Given the description of an element on the screen output the (x, y) to click on. 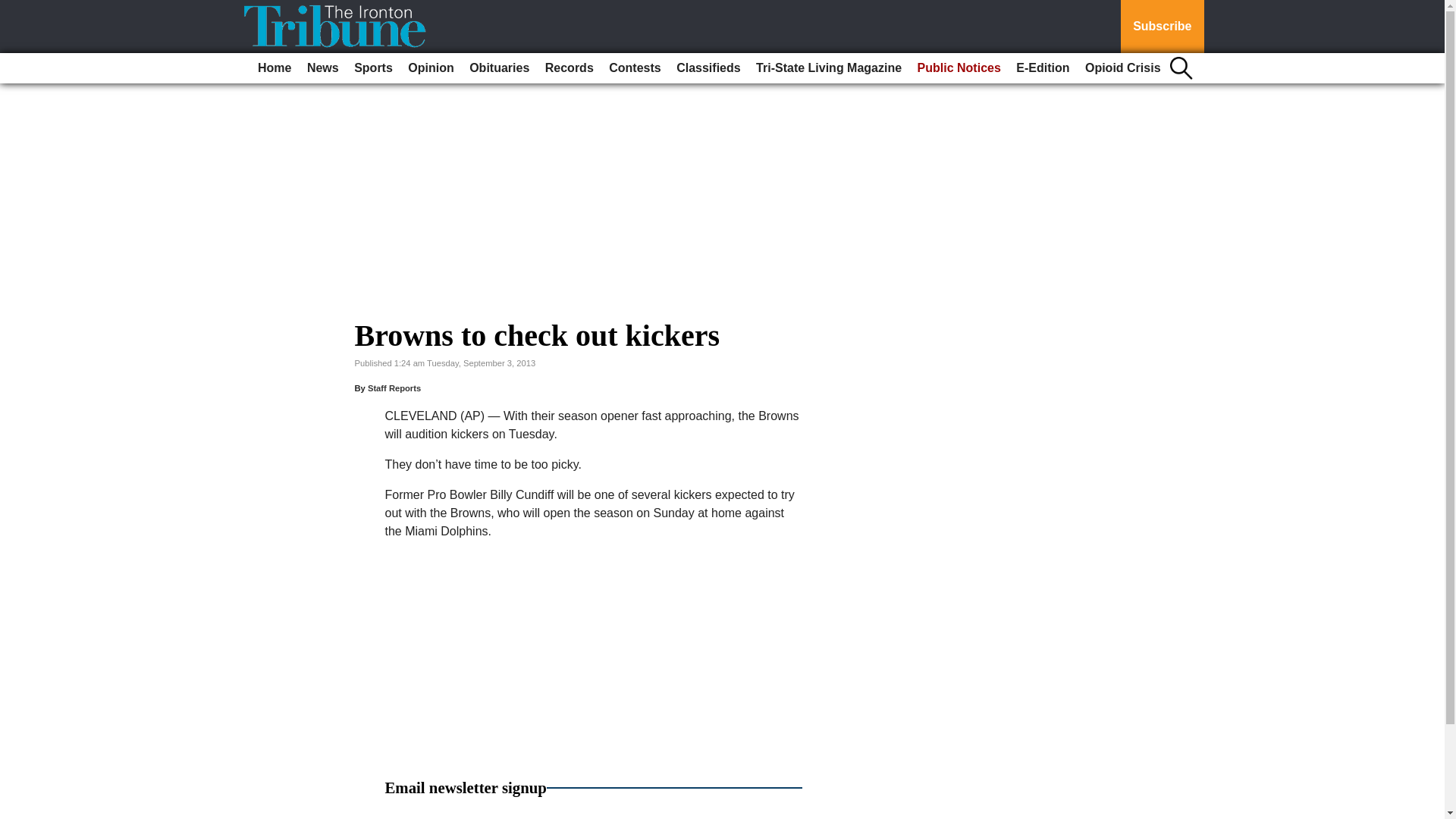
Staff Reports (394, 388)
Opioid Crisis (1122, 68)
Records (568, 68)
Go (13, 9)
Obituaries (499, 68)
Opinion (430, 68)
Sports (372, 68)
Tri-State Living Magazine (828, 68)
News (323, 68)
Home (274, 68)
